Given the description of an element on the screen output the (x, y) to click on. 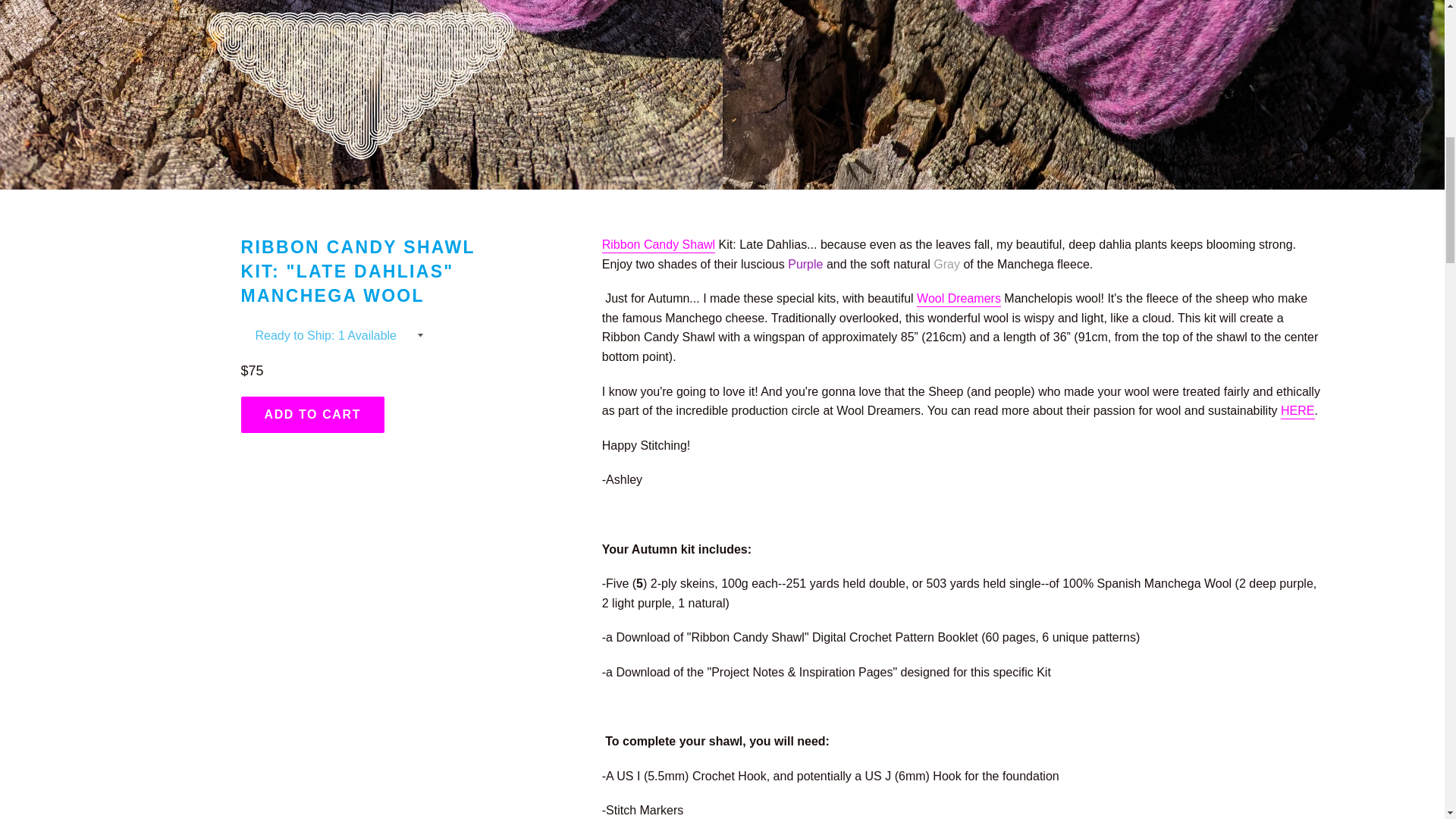
Wool Dreamer's Ethical Process (959, 299)
Wool Dreamers (959, 299)
ADD TO CART (313, 414)
HERE (1297, 411)
Ribbon Candy Shawl (658, 245)
